Given the description of an element on the screen output the (x, y) to click on. 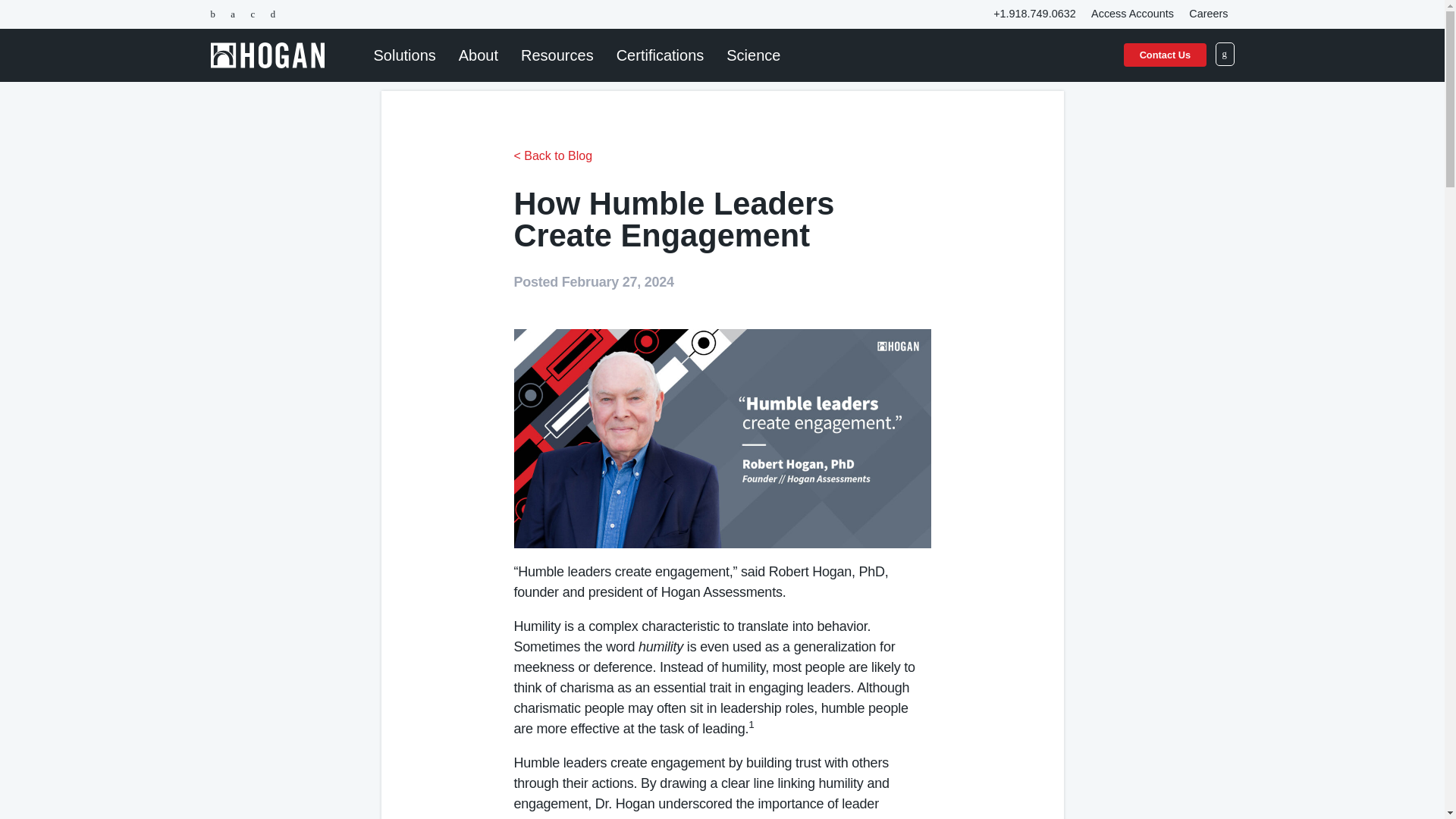
Careers (1207, 14)
Solutions (404, 54)
Access Accounts (1131, 14)
